Given the description of an element on the screen output the (x, y) to click on. 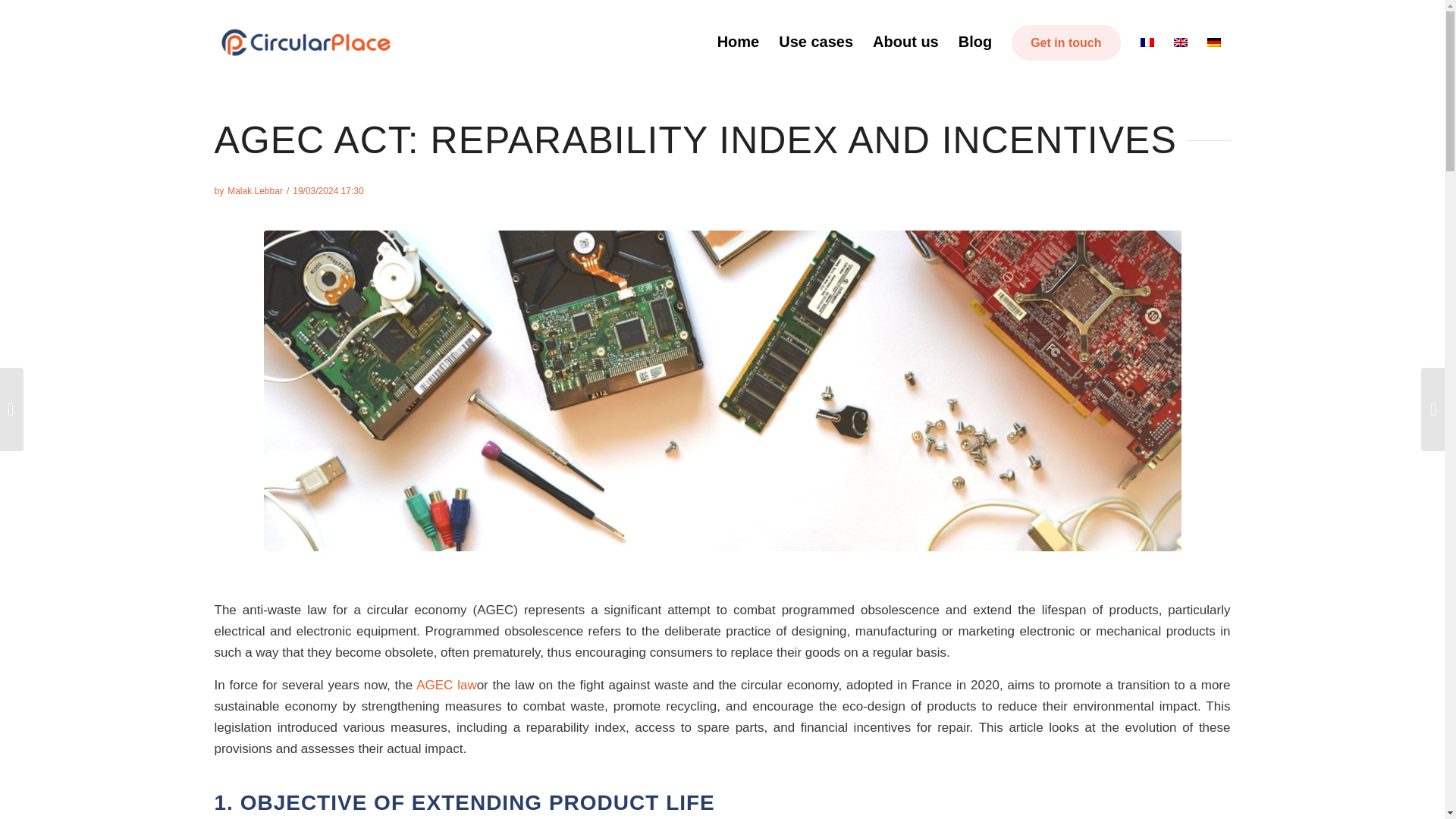
AGEC law (446, 685)
Get in touch (1065, 41)
About us (906, 41)
English (1180, 41)
Malak Lebbar (254, 190)
Use cases (815, 41)
Deutsch (1214, 41)
